Given the description of an element on the screen output the (x, y) to click on. 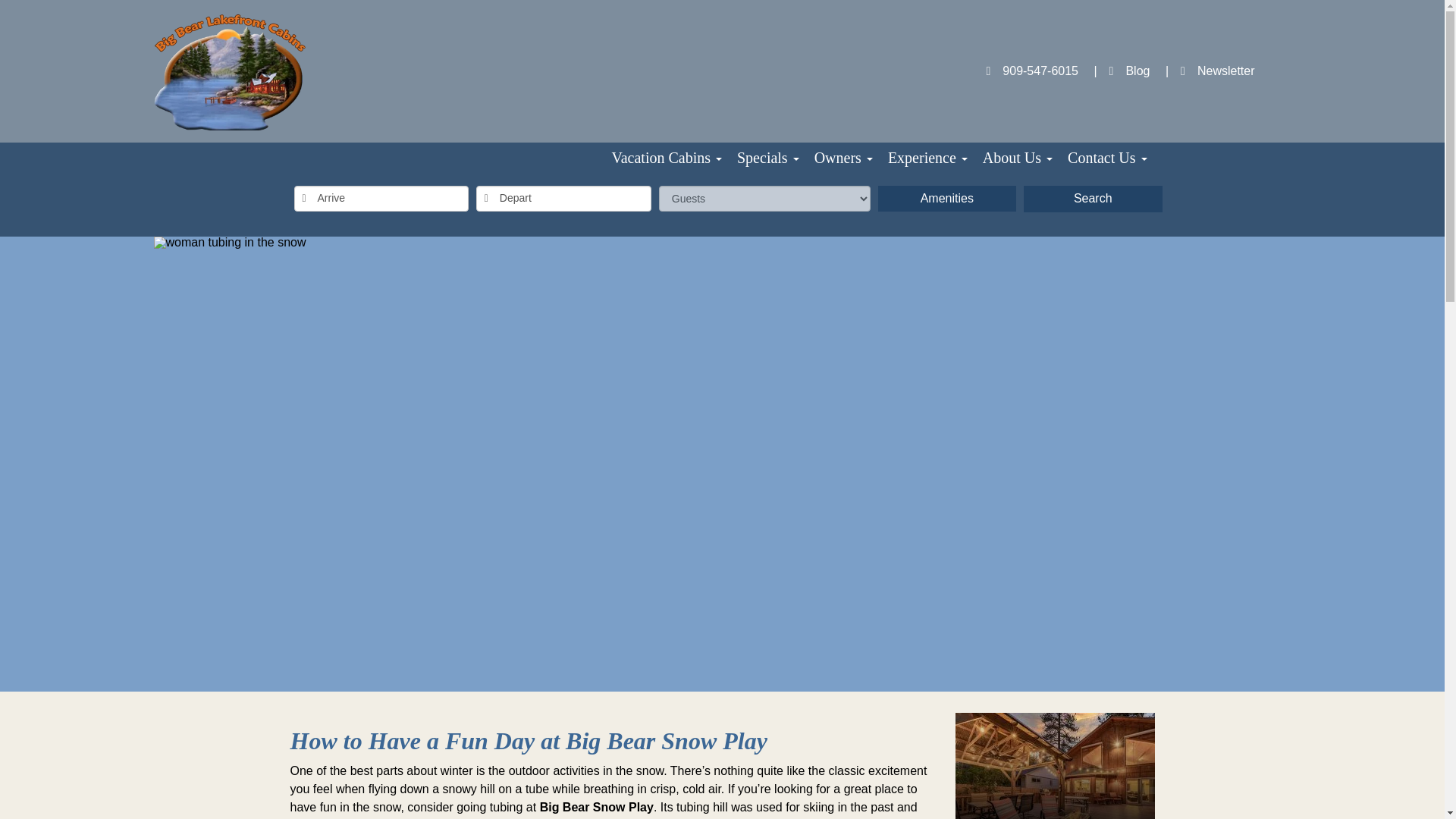
Owners (843, 157)
Amenities (946, 198)
Vacation Cabins (666, 157)
About Us (1017, 157)
Experience (927, 157)
Search (1092, 198)
Contact Us (1106, 157)
Search (1092, 198)
Vacation Cabins (666, 157)
Experience (927, 157)
Owners (843, 157)
909-547-6015 (1031, 70)
Blog (1121, 70)
Specials (767, 157)
Specials (767, 157)
